Given the description of an element on the screen output the (x, y) to click on. 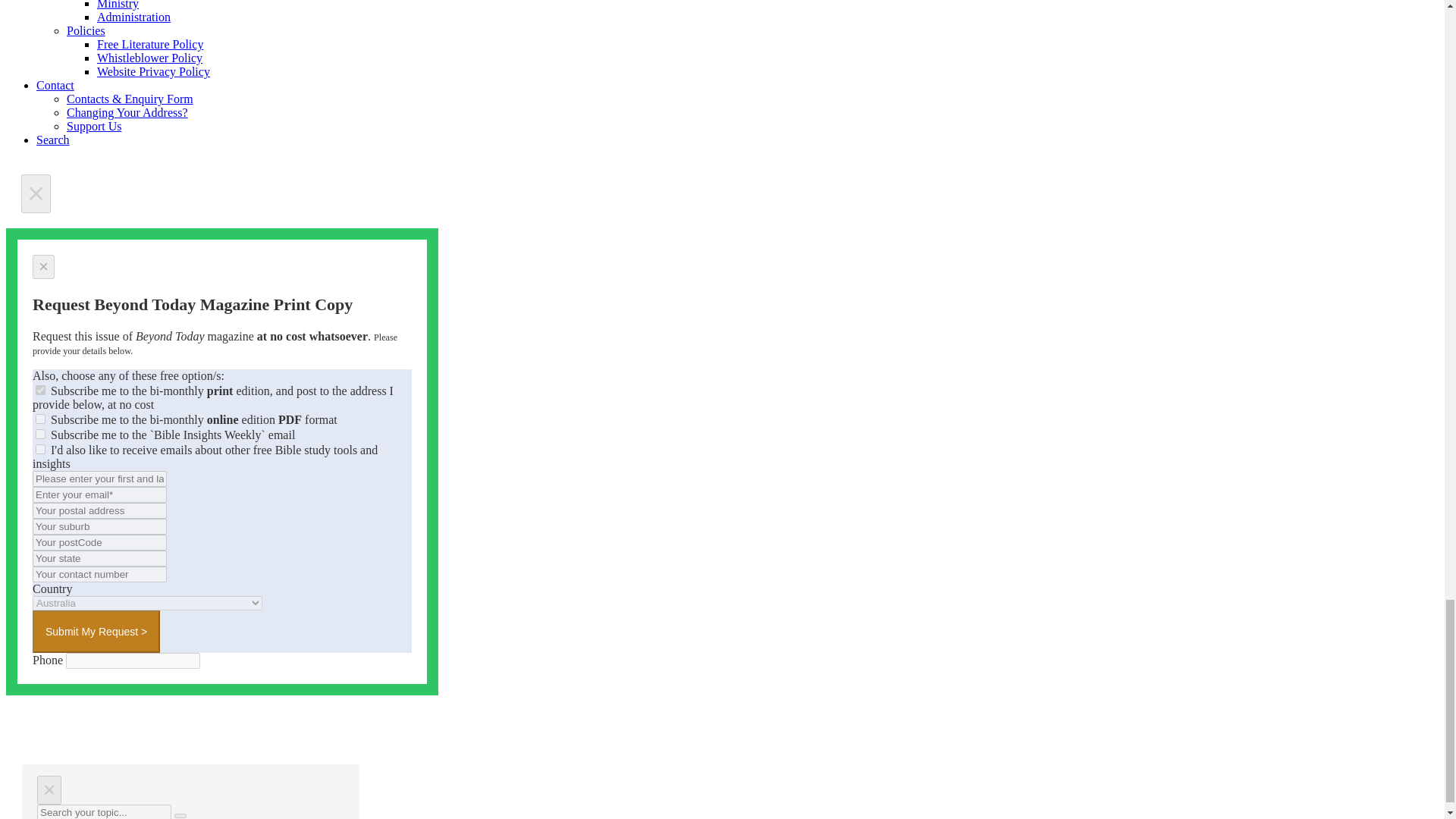
BIW-subscribe-form (39, 433)
BTMag-digital (39, 419)
BTMag-print (39, 389)
Subscribe-to-Bible-Study-Tools-and-Insights-form92 (39, 449)
